Given the description of an element on the screen output the (x, y) to click on. 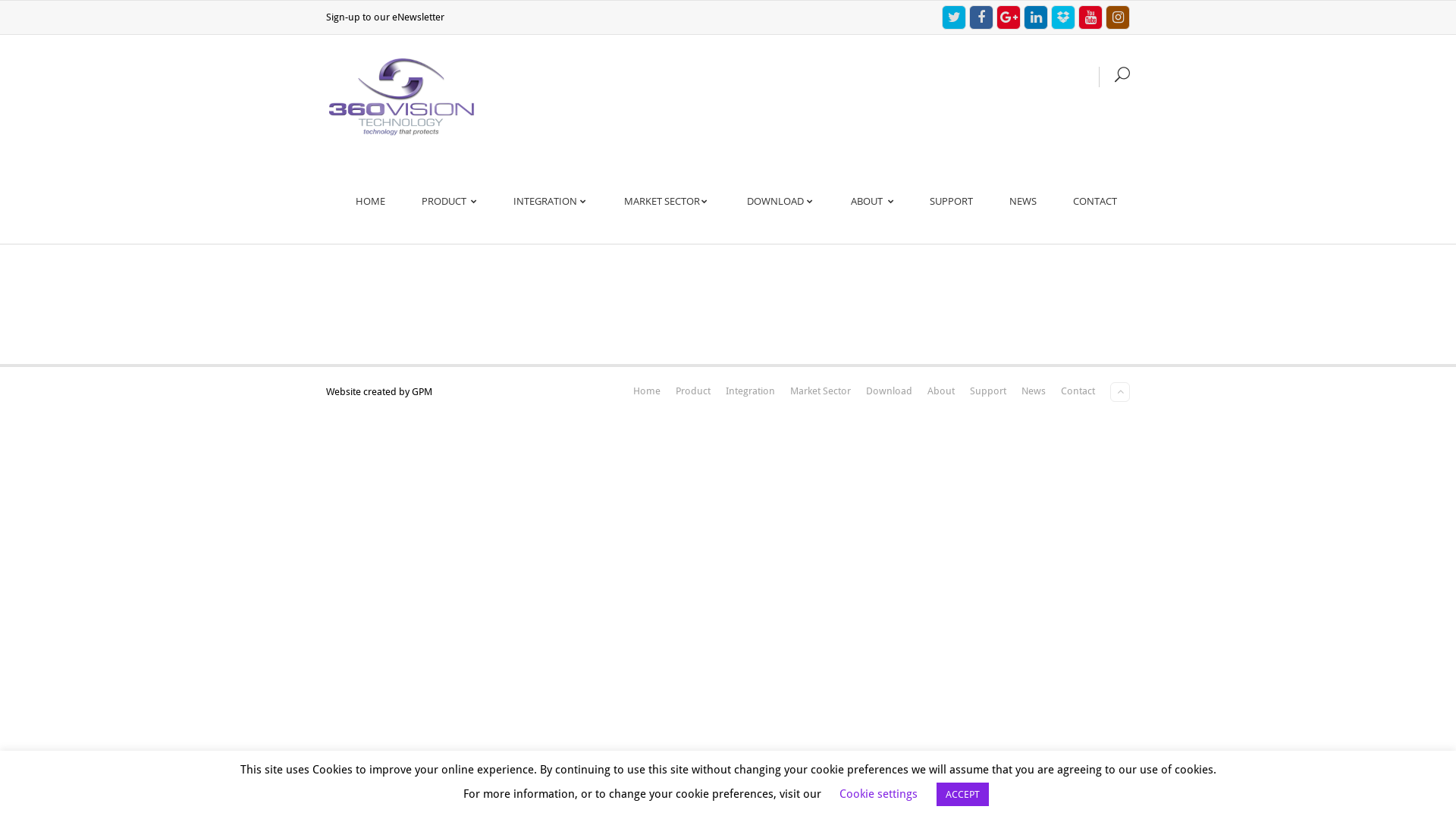
PRODUCT Element type: text (448, 201)
Integration Element type: text (750, 390)
Support Element type: text (987, 390)
HOME Element type: text (370, 201)
Market Sector Element type: text (820, 390)
technology that protects Element type: hover (401, 96)
Cookie settings Element type: text (878, 793)
Contact Element type: text (1077, 390)
ABOUT Element type: text (871, 201)
Website created by GPM Element type: text (379, 391)
MARKET SECTOR Element type: text (667, 201)
Product Element type: text (692, 390)
SUPPORT Element type: text (950, 201)
Sign-up to our eNewsletter Element type: text (385, 16)
ACCEPT Element type: text (962, 794)
News Element type: text (1033, 390)
About Element type: text (940, 390)
INTEGRATION Element type: text (550, 201)
Home Element type: text (646, 390)
DOWNLOAD Element type: text (780, 201)
CONTACT Element type: text (1094, 201)
Download Element type: text (889, 390)
NEWS Element type: text (1022, 201)
